Given the description of an element on the screen output the (x, y) to click on. 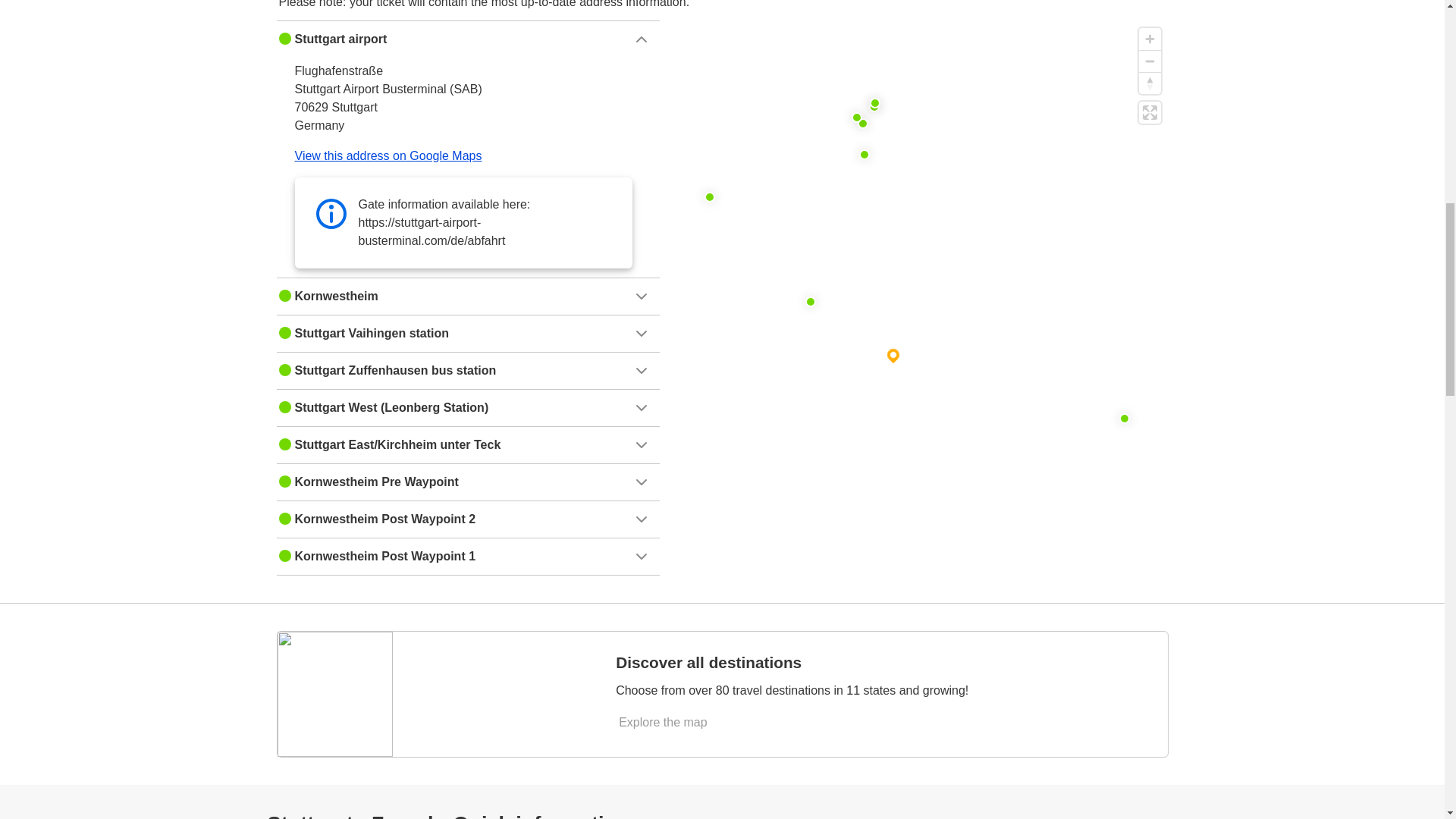
Enter fullscreen (1149, 112)
View this address on Google Maps (388, 155)
Reset bearing to north (1149, 83)
Zoom out (1149, 60)
Zoom in (1149, 38)
